Given the description of an element on the screen output the (x, y) to click on. 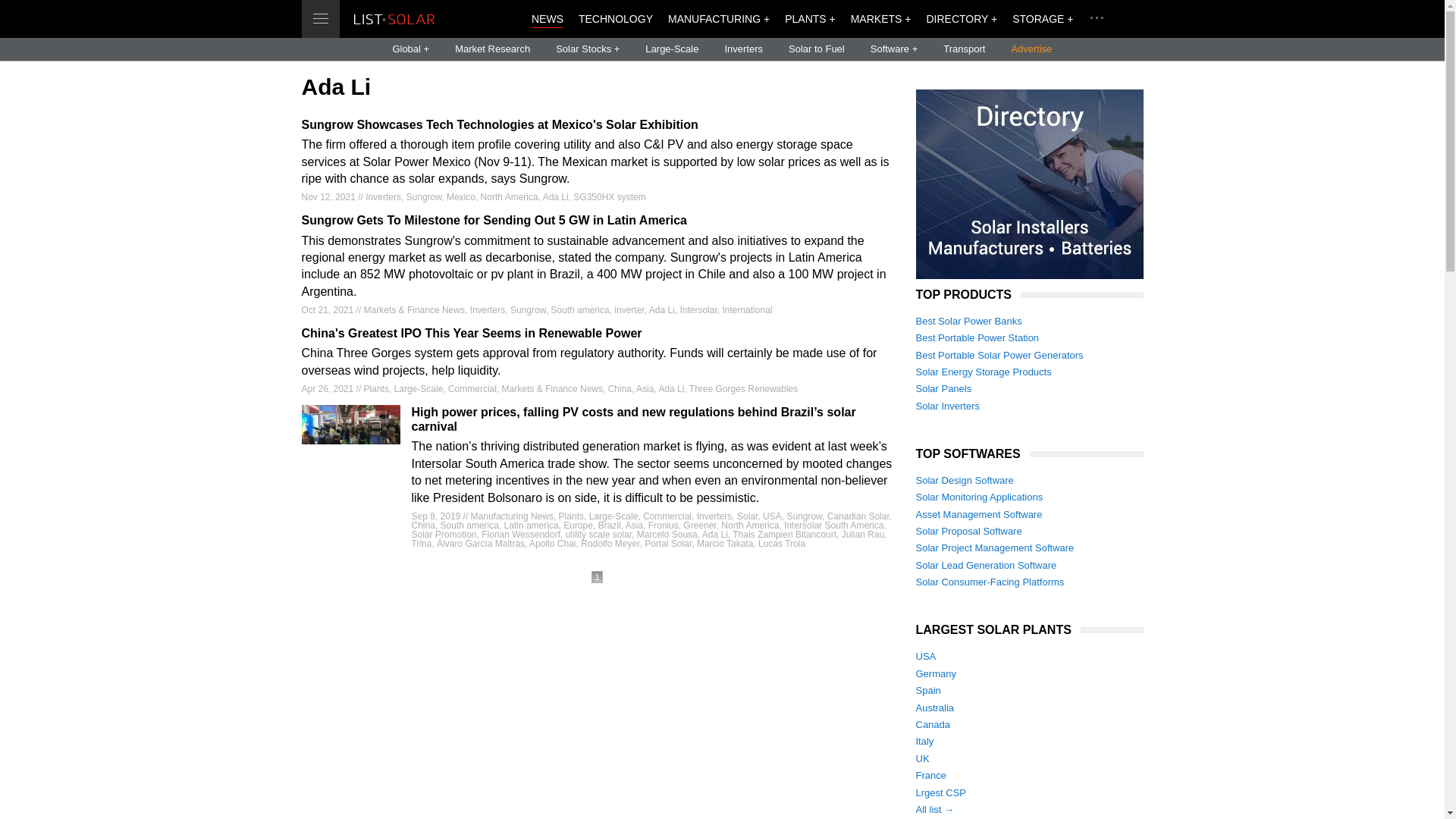
Ada Li page 1 (596, 576)
China's Greatest IPO This Year Seems in Renewable Power (597, 332)
